Given the description of an element on the screen output the (x, y) to click on. 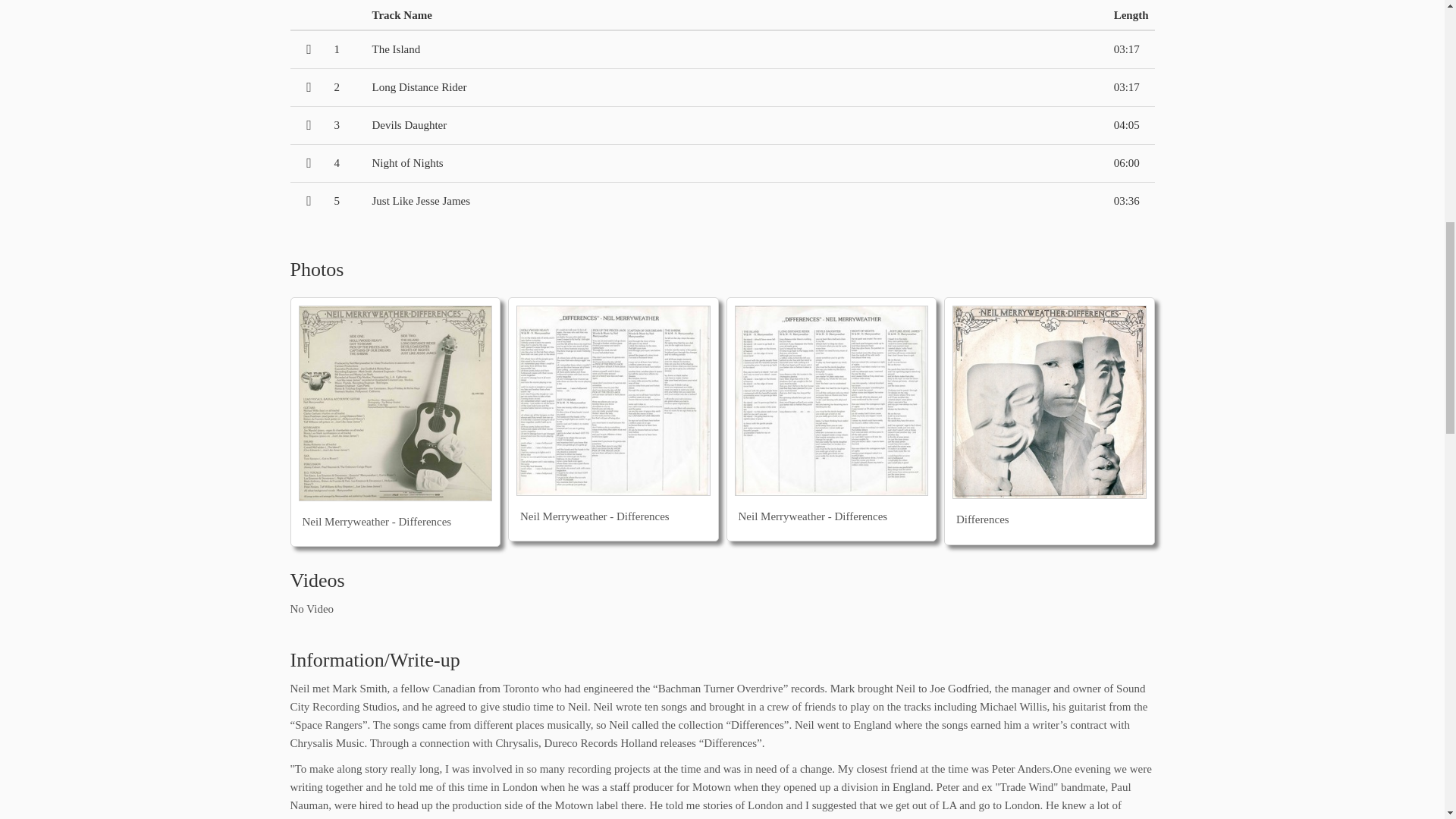
Neil Merryweather - Differences (395, 403)
Neil Merryweather - Differences (613, 400)
Neil Merryweather - Differences (830, 400)
Differences (1049, 402)
